Given the description of an element on the screen output the (x, y) to click on. 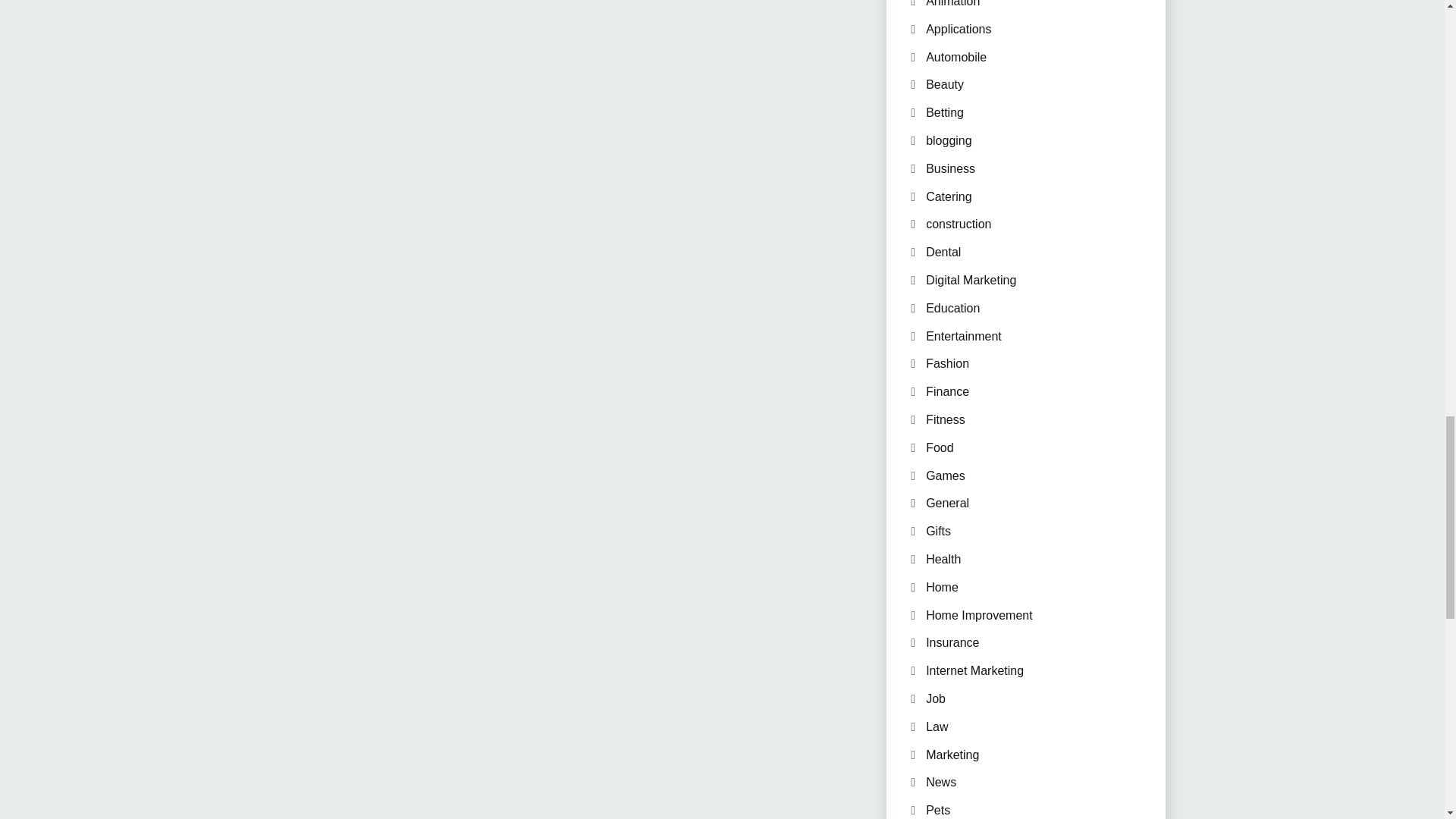
Applications (958, 29)
Animation (952, 3)
Automobile (956, 56)
